Given the description of an element on the screen output the (x, y) to click on. 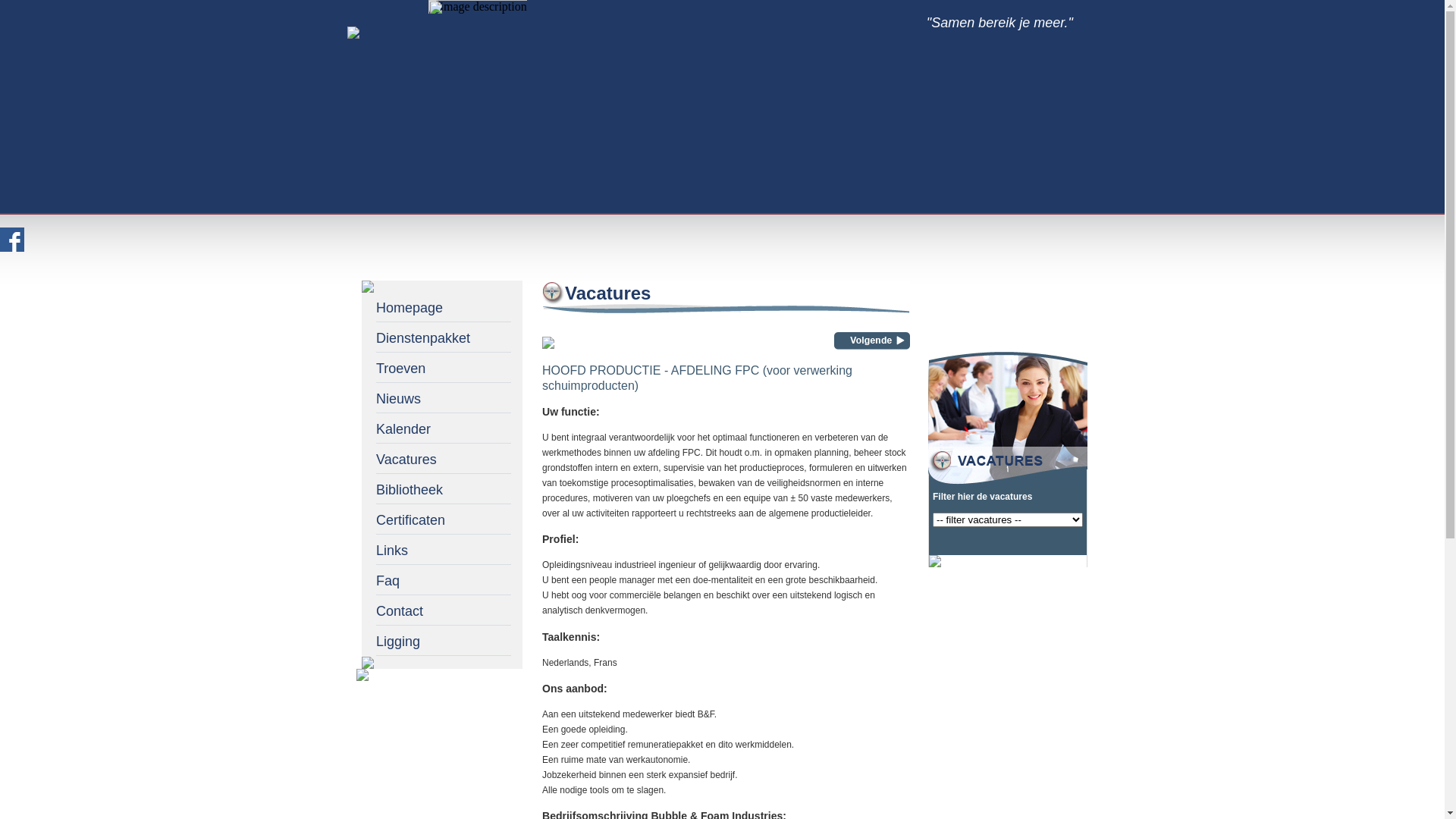
Contact Element type: text (441, 607)
Faq Element type: text (441, 577)
Vacatures Element type: text (441, 455)
Homepage Element type: text (441, 304)
Troeven Element type: text (441, 364)
Nieuws Element type: text (441, 395)
Certificaten Element type: text (441, 516)
Ligging Element type: text (441, 637)
Bibliotheek Element type: text (441, 486)
Links Element type: text (441, 546)
Kalender Element type: text (441, 425)
Dienstenpakket Element type: text (441, 334)
